Given the description of an element on the screen output the (x, y) to click on. 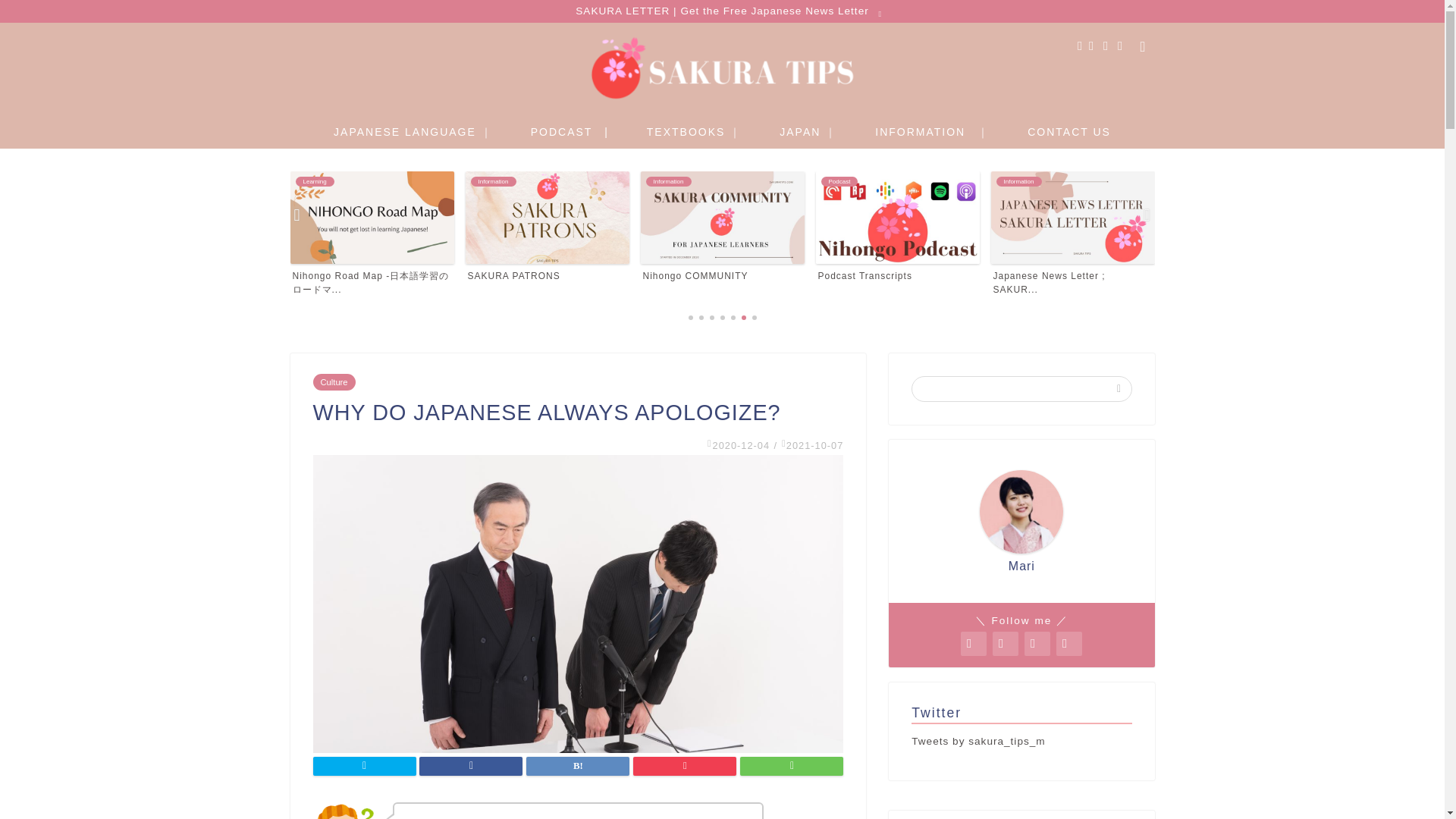
CONTACT US (546, 227)
Culture (1069, 130)
SAKURA TIPS (721, 227)
